Given the description of an element on the screen output the (x, y) to click on. 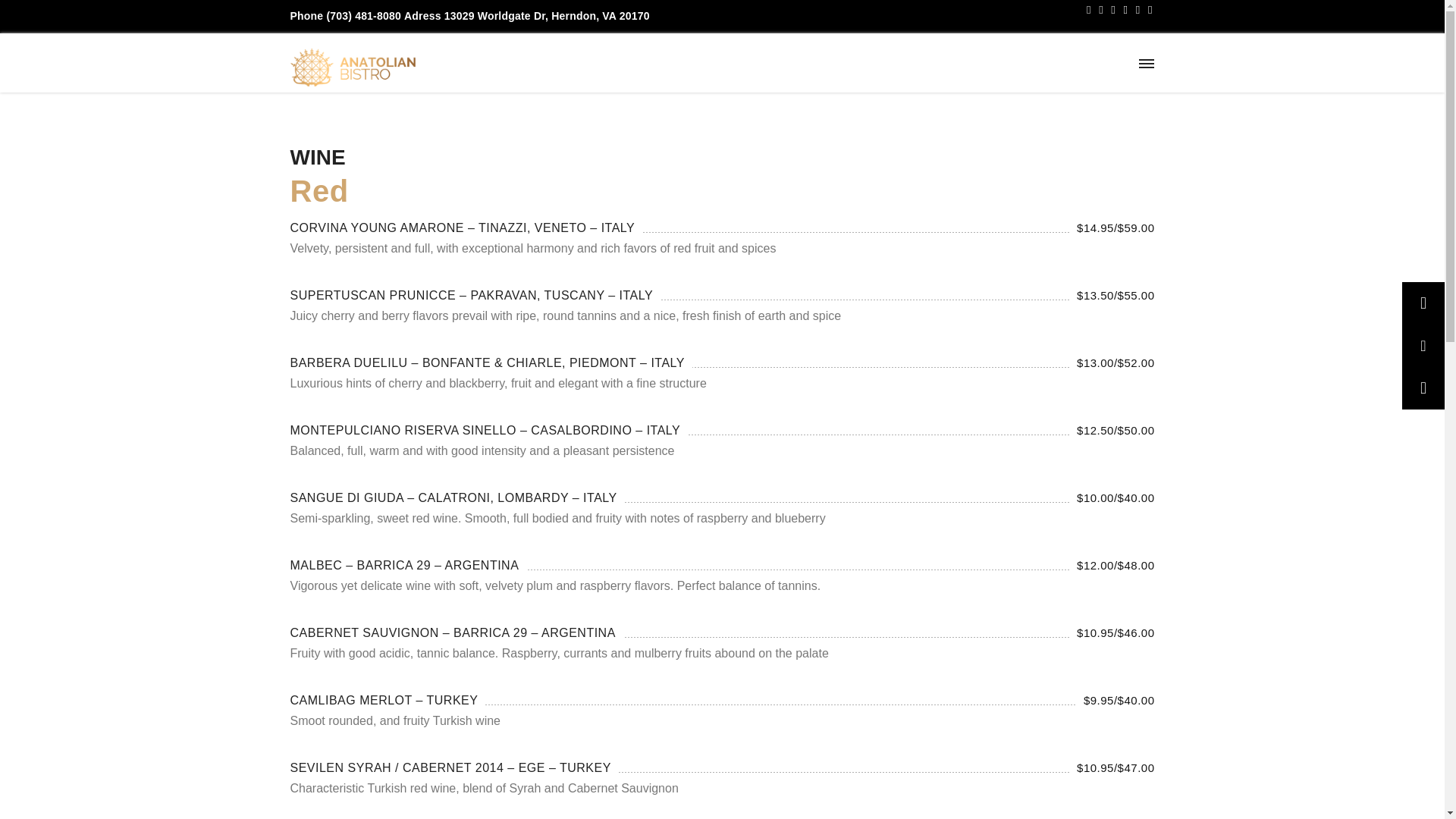
Gallery (987, 62)
Order Delivery (834, 62)
Contact (1108, 62)
Order Pickup (734, 62)
Events (926, 62)
